Given the description of an element on the screen output the (x, y) to click on. 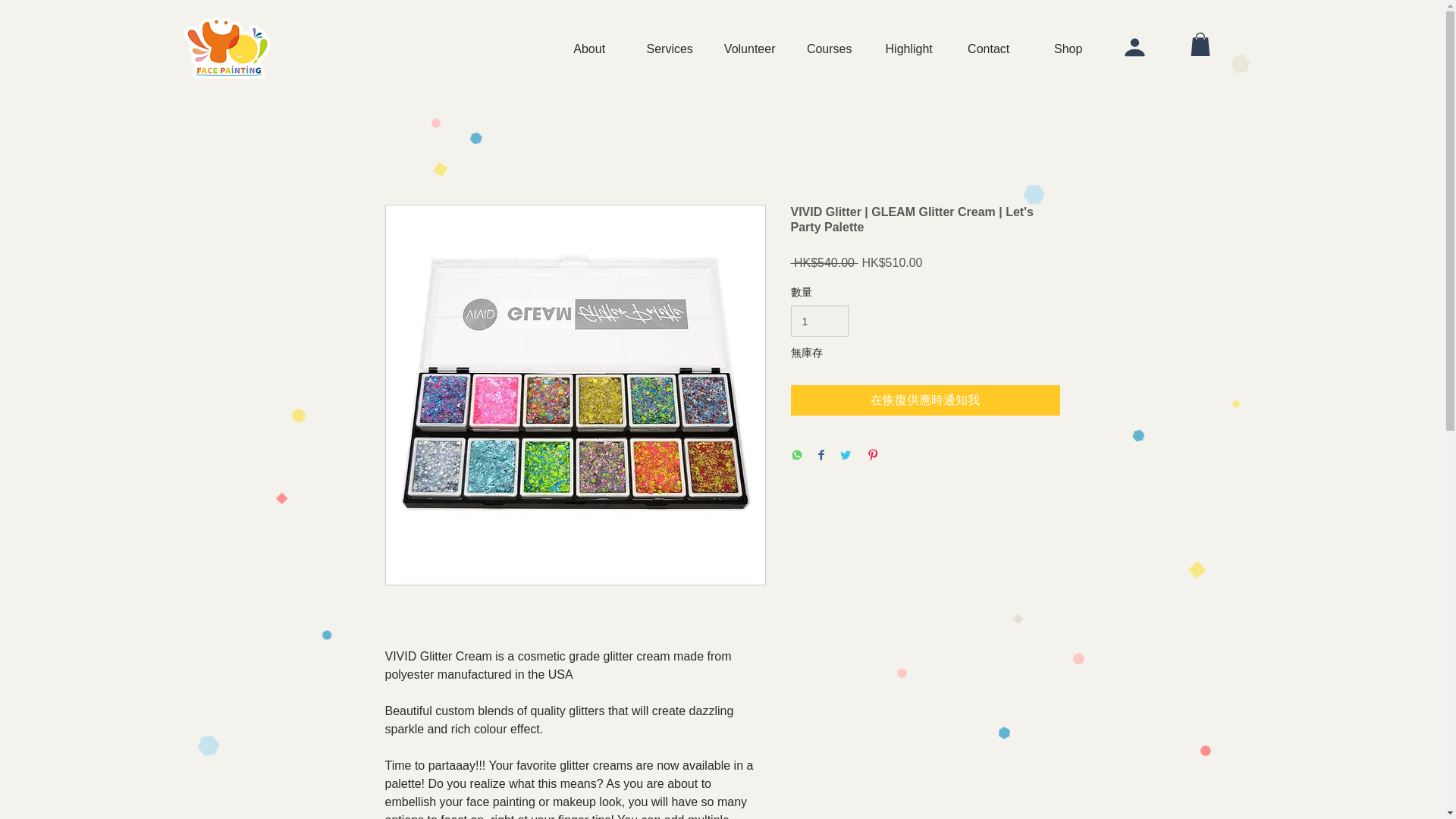
Contact (988, 47)
Services (669, 47)
Volunteer (749, 47)
Courses (829, 47)
1 (818, 320)
About (588, 47)
Shop (1067, 47)
